Given the description of an element on the screen output the (x, y) to click on. 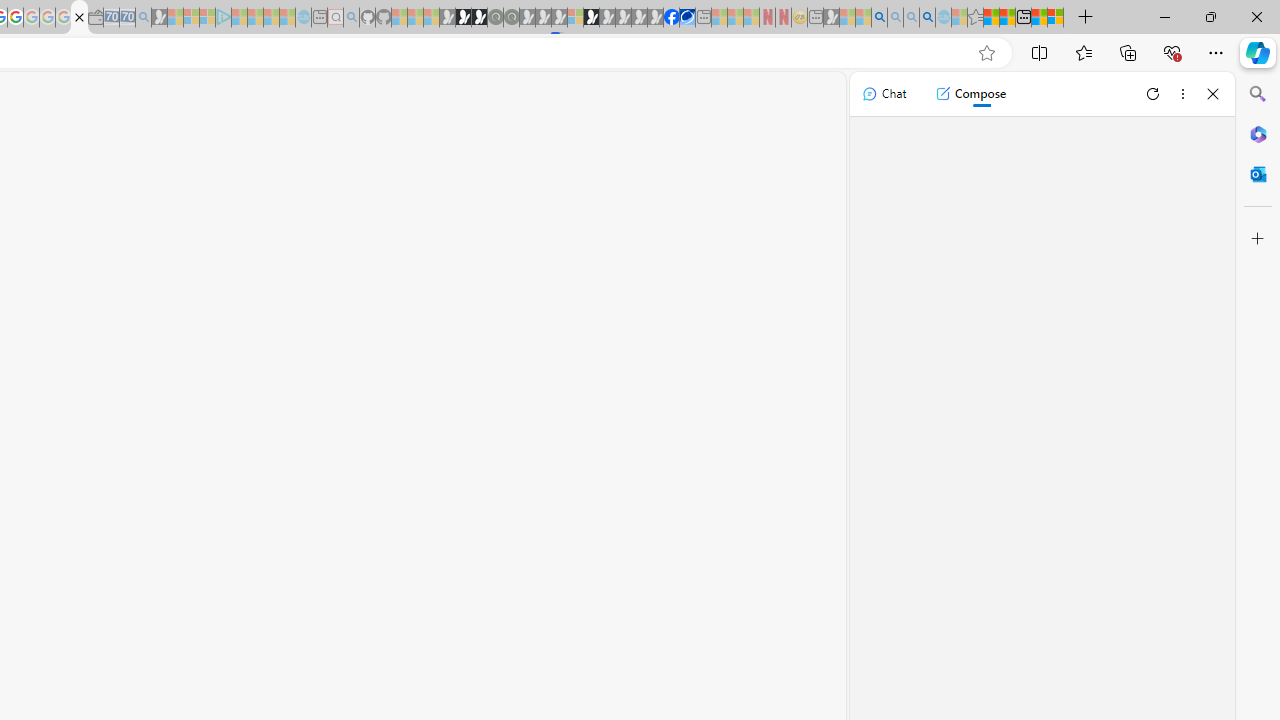
Compose (970, 93)
Nordace | Facebook (671, 17)
Aberdeen, Hong Kong SAR weather forecast | Microsoft Weather (1007, 17)
